Given the description of an element on the screen output the (x, y) to click on. 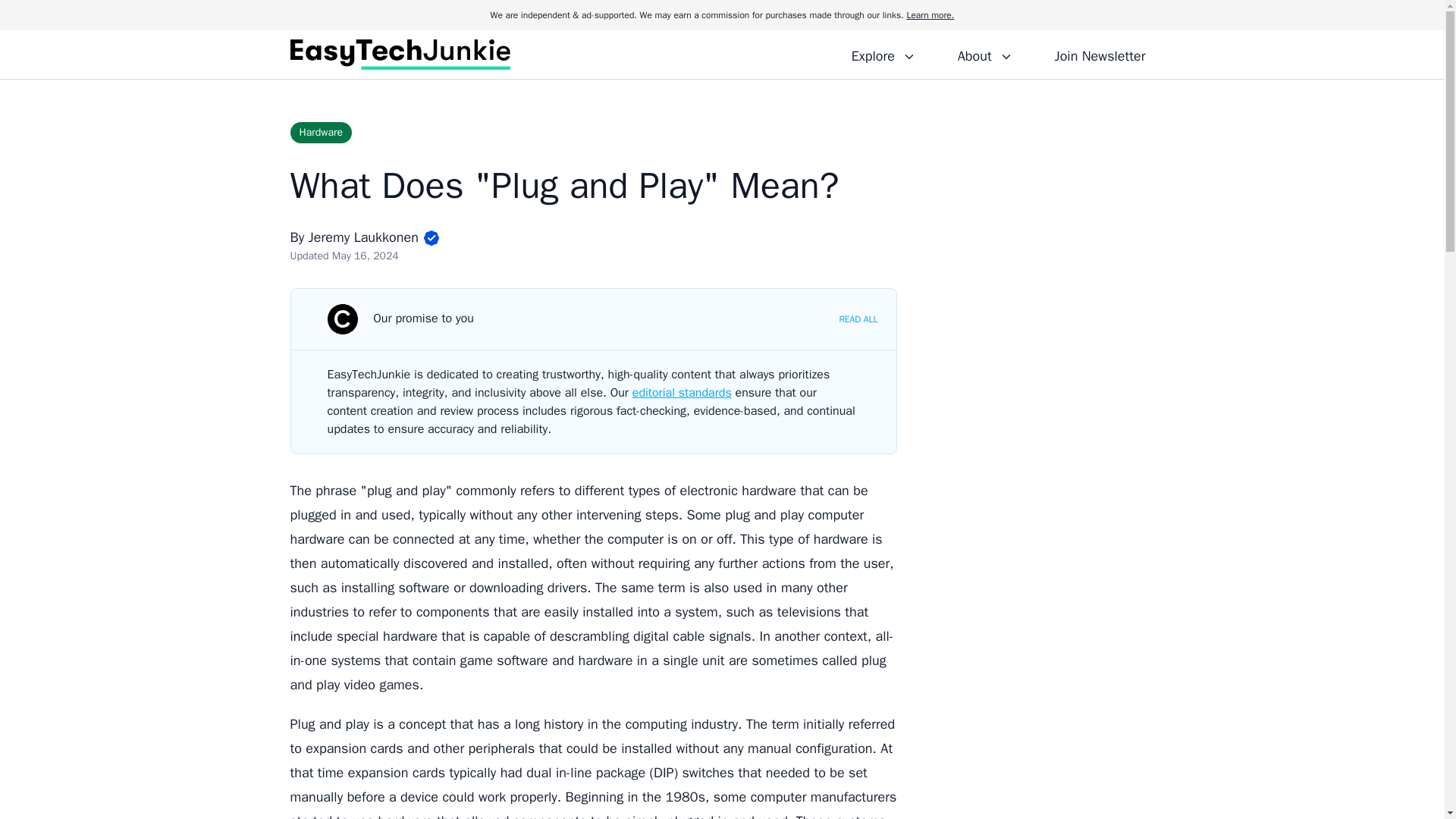
Learn more. (929, 15)
editorial standards (681, 393)
Explore (883, 54)
About (984, 54)
READ ALL (857, 318)
Hardware (320, 132)
Join Newsletter (1099, 54)
